Given the description of an element on the screen output the (x, y) to click on. 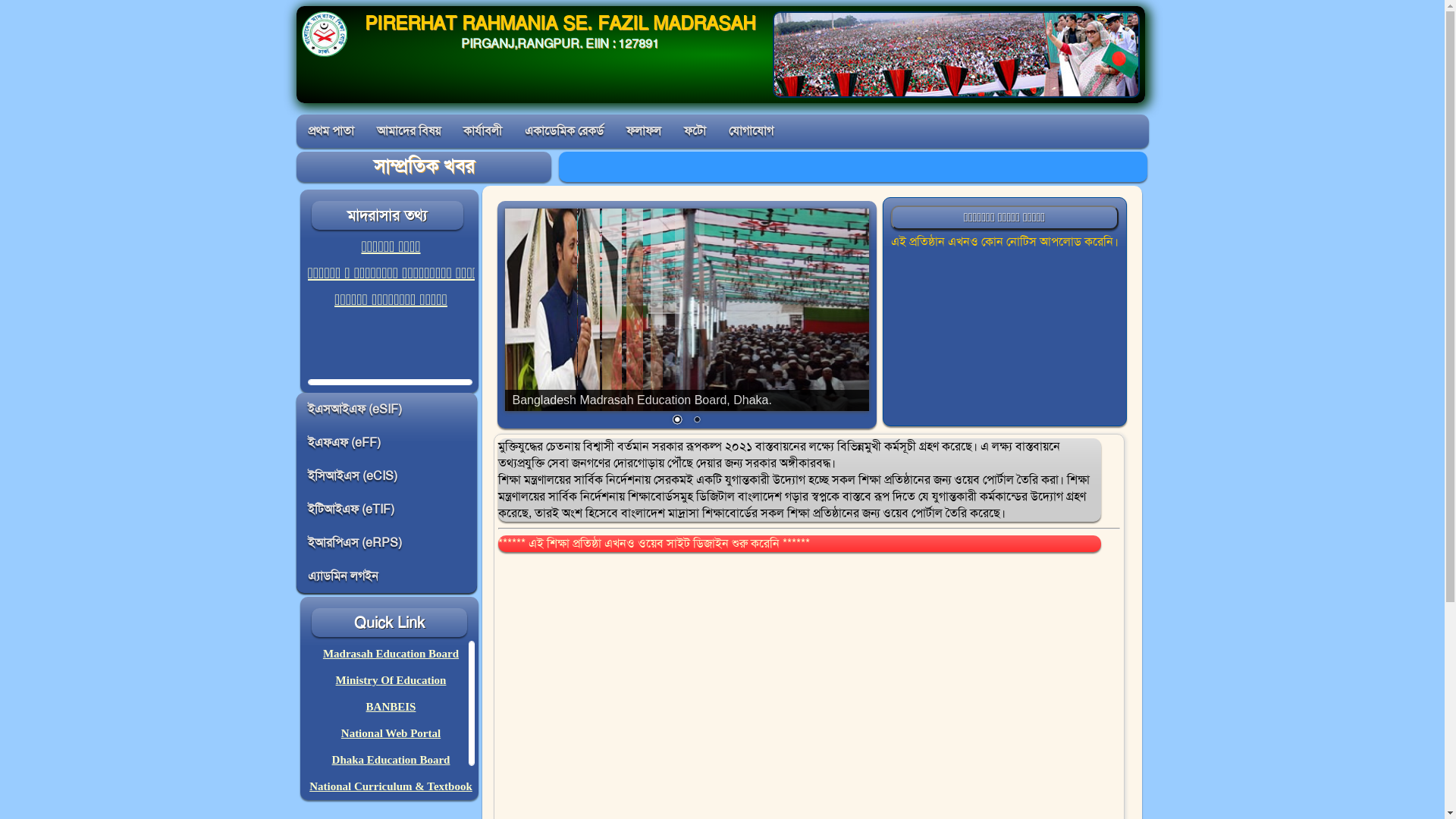
1 Element type: text (676, 420)
National Curriculum & Textbook Element type: text (390, 786)
Ministry Of Education Element type: text (390, 680)
2 Element type: text (696, 420)
BANBEIS Element type: text (391, 706)
Madrasah Education Board Element type: text (390, 653)
National Web Portal Element type: text (390, 733)
Dhaka Education Board Element type: text (391, 759)
